Given the description of an element on the screen output the (x, y) to click on. 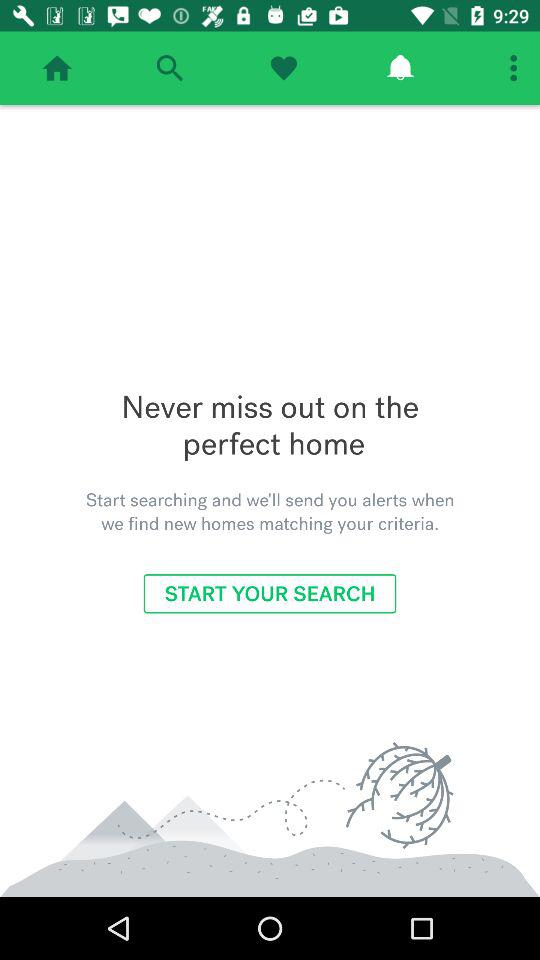
go to notifications (400, 68)
